Given the description of an element on the screen output the (x, y) to click on. 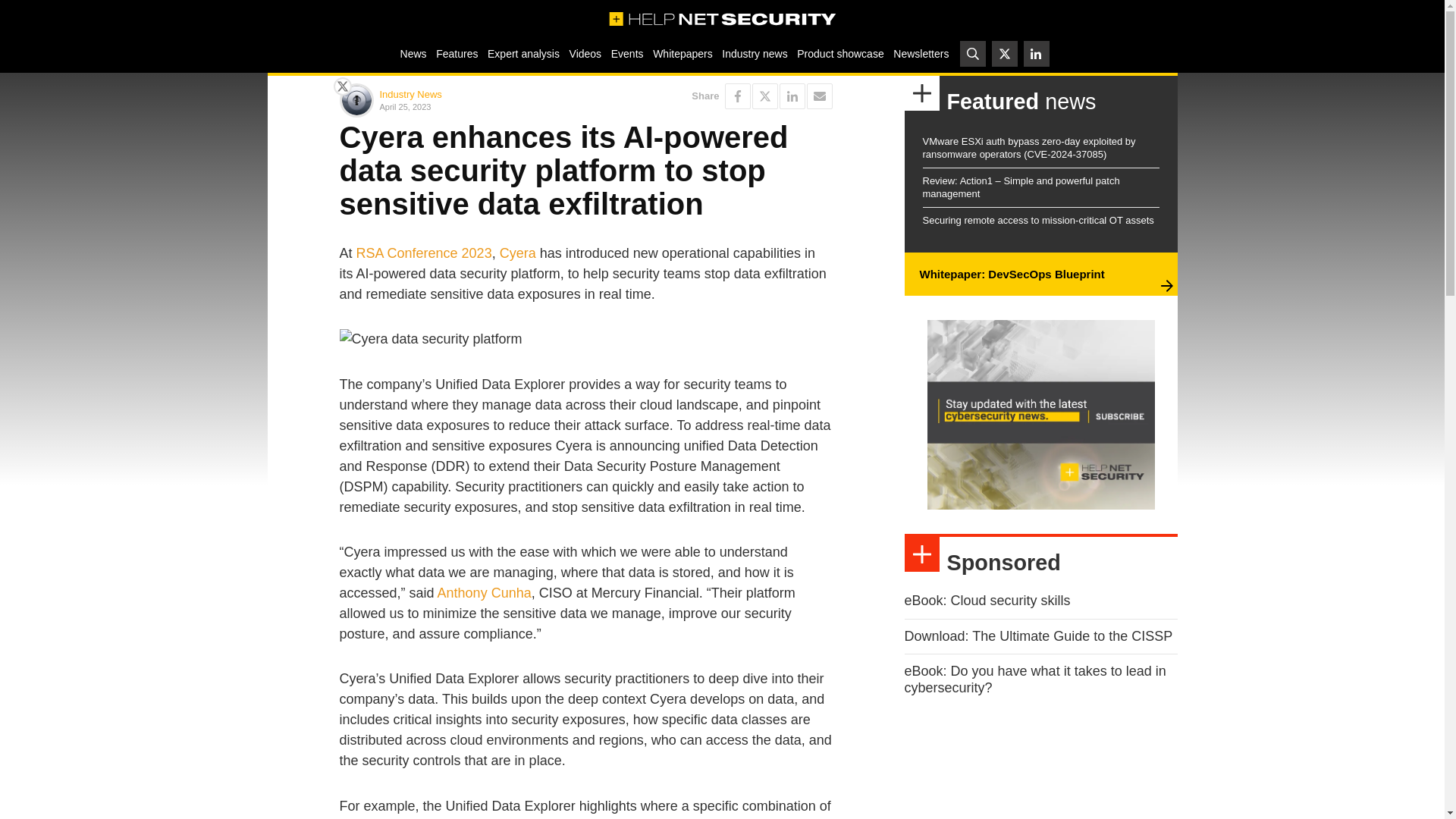
Features (456, 53)
News (412, 53)
April 25, 2023 (478, 106)
Newsletters (920, 53)
Events (626, 53)
Whitepaper: DevSecOps Blueprint (1010, 273)
RSA Conference 2023 (424, 253)
Anthony Cunha (484, 592)
Securing remote access to mission-critical OT assets (1037, 220)
eBook: Cloud security skills (987, 600)
Cyera data security platform (585, 339)
Videos (584, 53)
